Given the description of an element on the screen output the (x, y) to click on. 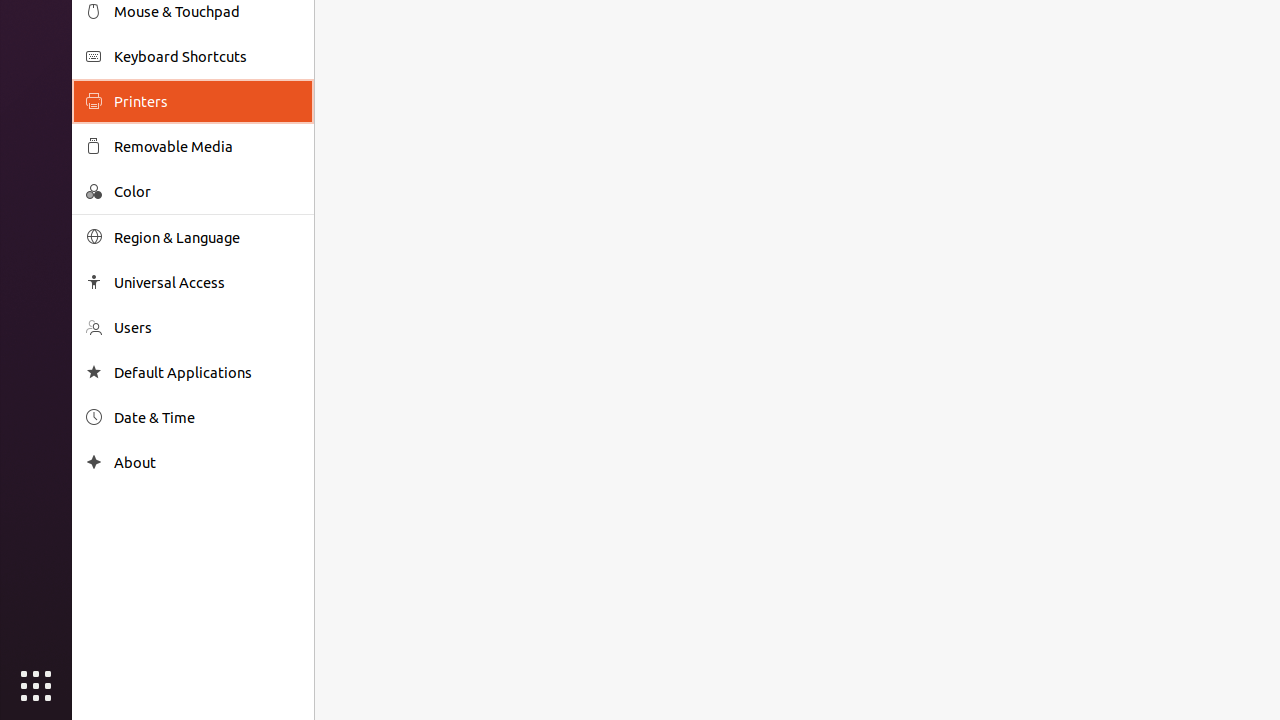
Keyboard Shortcuts Element type: label (207, 56)
Universal Access Element type: label (207, 282)
